Given the description of an element on the screen output the (x, y) to click on. 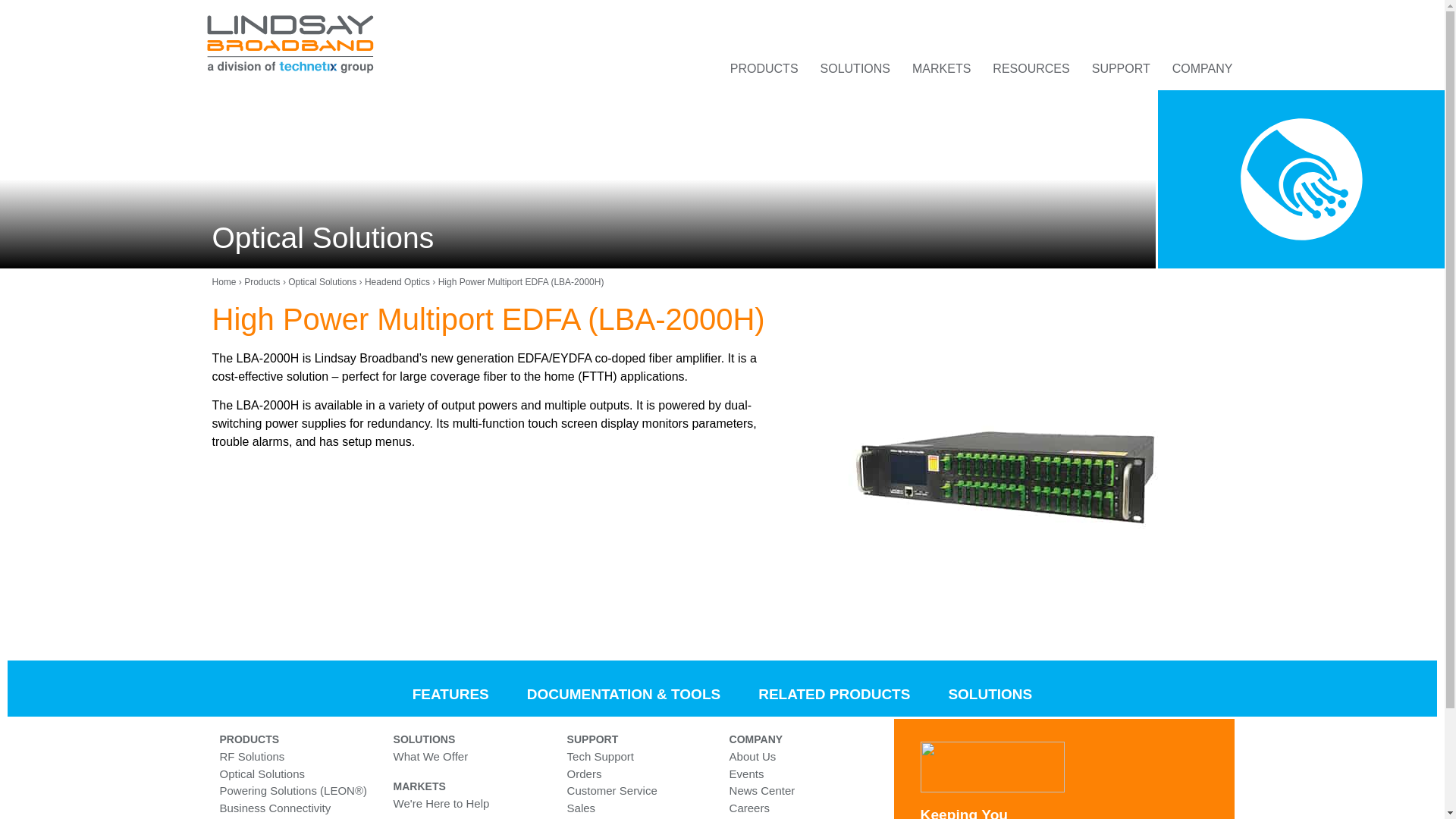
PRODUCTS (764, 68)
MARKETS (941, 68)
SOLUTIONS (855, 68)
